Given the description of an element on the screen output the (x, y) to click on. 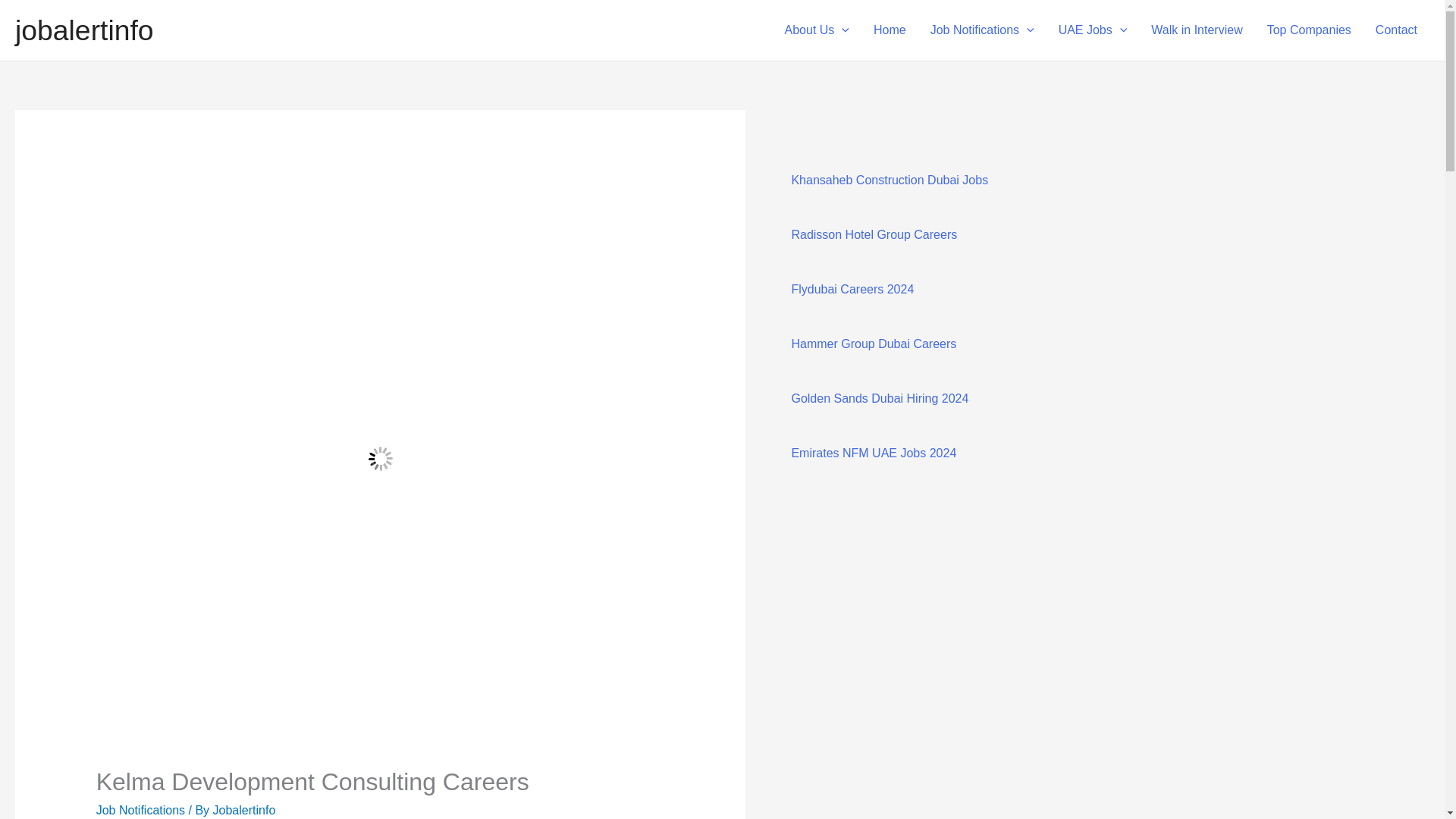
Home (889, 30)
About Us (817, 30)
UAE Jobs (1093, 30)
Walk in Interview (1195, 30)
jobalertinfo (84, 29)
Top Companies (1308, 30)
View all posts by Jobalertinfo (244, 809)
Job Notifications (982, 30)
Contact (1395, 30)
